Given the description of an element on the screen output the (x, y) to click on. 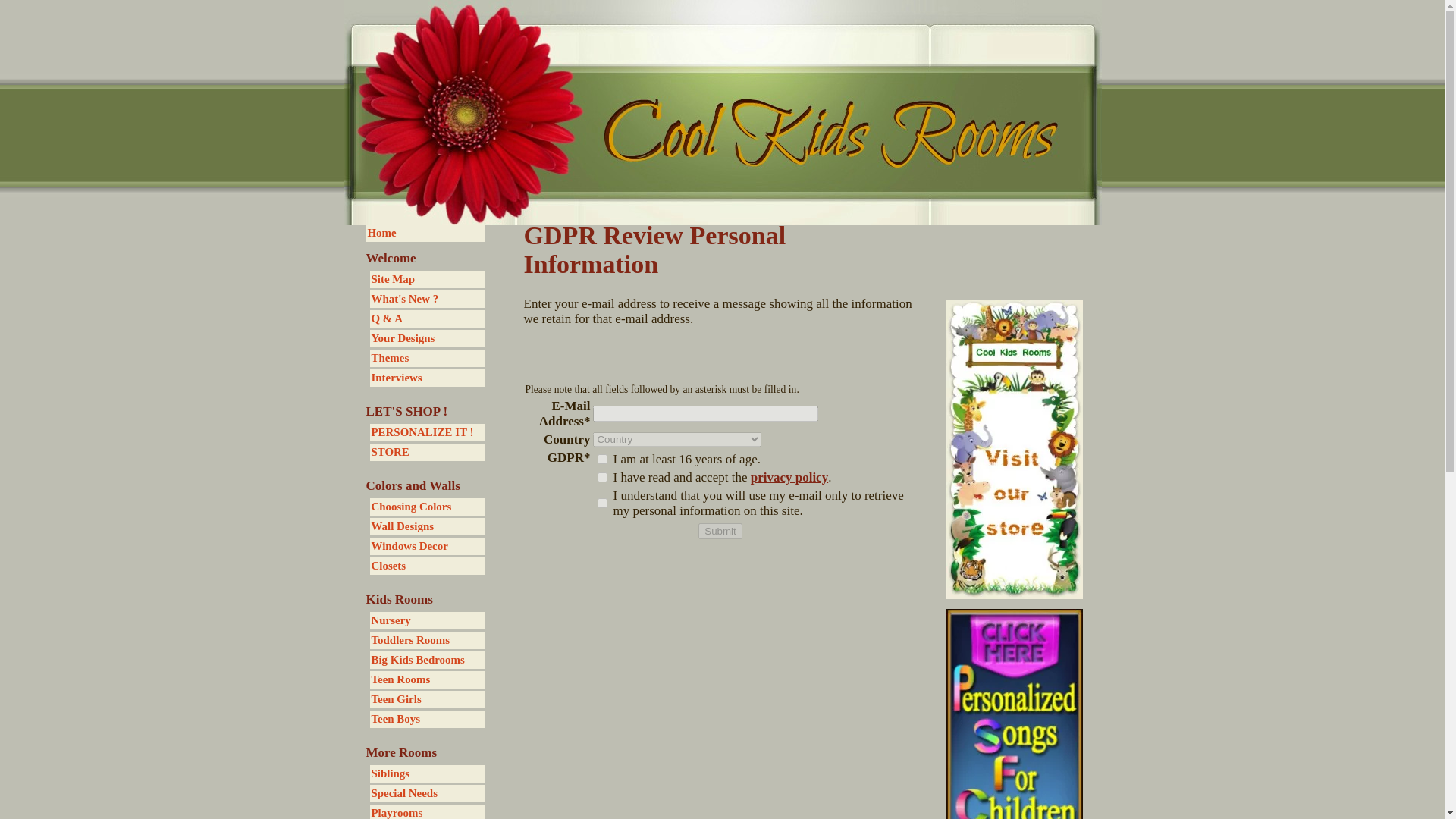
PERSONALIZE IT ! (426, 432)
Site Map (426, 279)
Teen Rooms (426, 679)
privacy policy (789, 477)
Playrooms (426, 811)
Your Designs (426, 338)
Submit (719, 530)
I am at least 16 years of age. (601, 459)
STORE (426, 452)
Choosing Colors (426, 506)
Interviews (426, 377)
Nursery (426, 620)
Siblings (426, 773)
Windows Decor (426, 546)
Big Kids Bedrooms (426, 660)
